Given the description of an element on the screen output the (x, y) to click on. 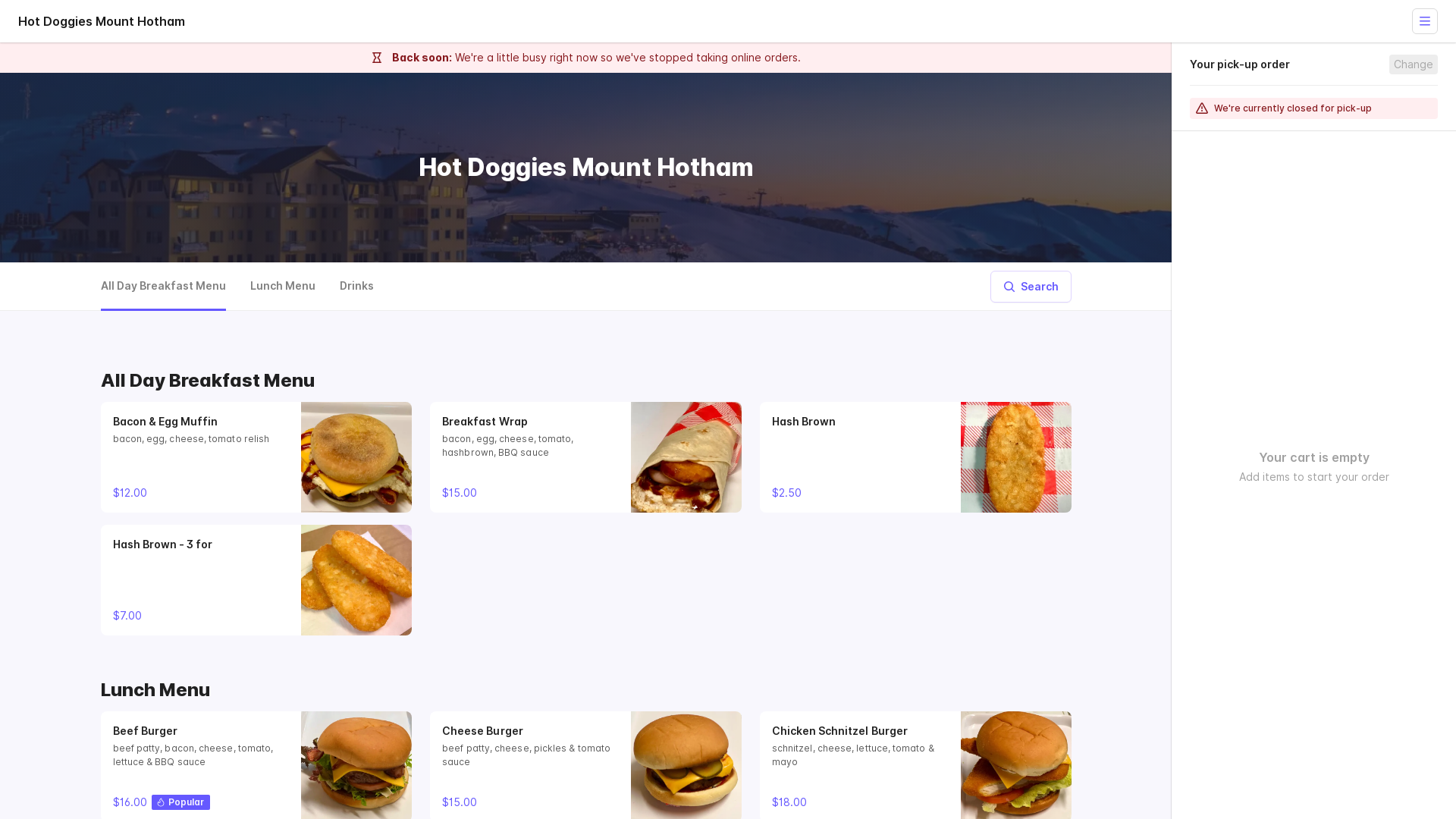
Change Element type: text (1413, 64)
Drinks Element type: text (356, 286)
All Day Breakfast Menu Element type: text (162, 286)
Search Element type: text (1030, 286)
Lunch Menu Element type: text (282, 286)
